Given the description of an element on the screen output the (x, y) to click on. 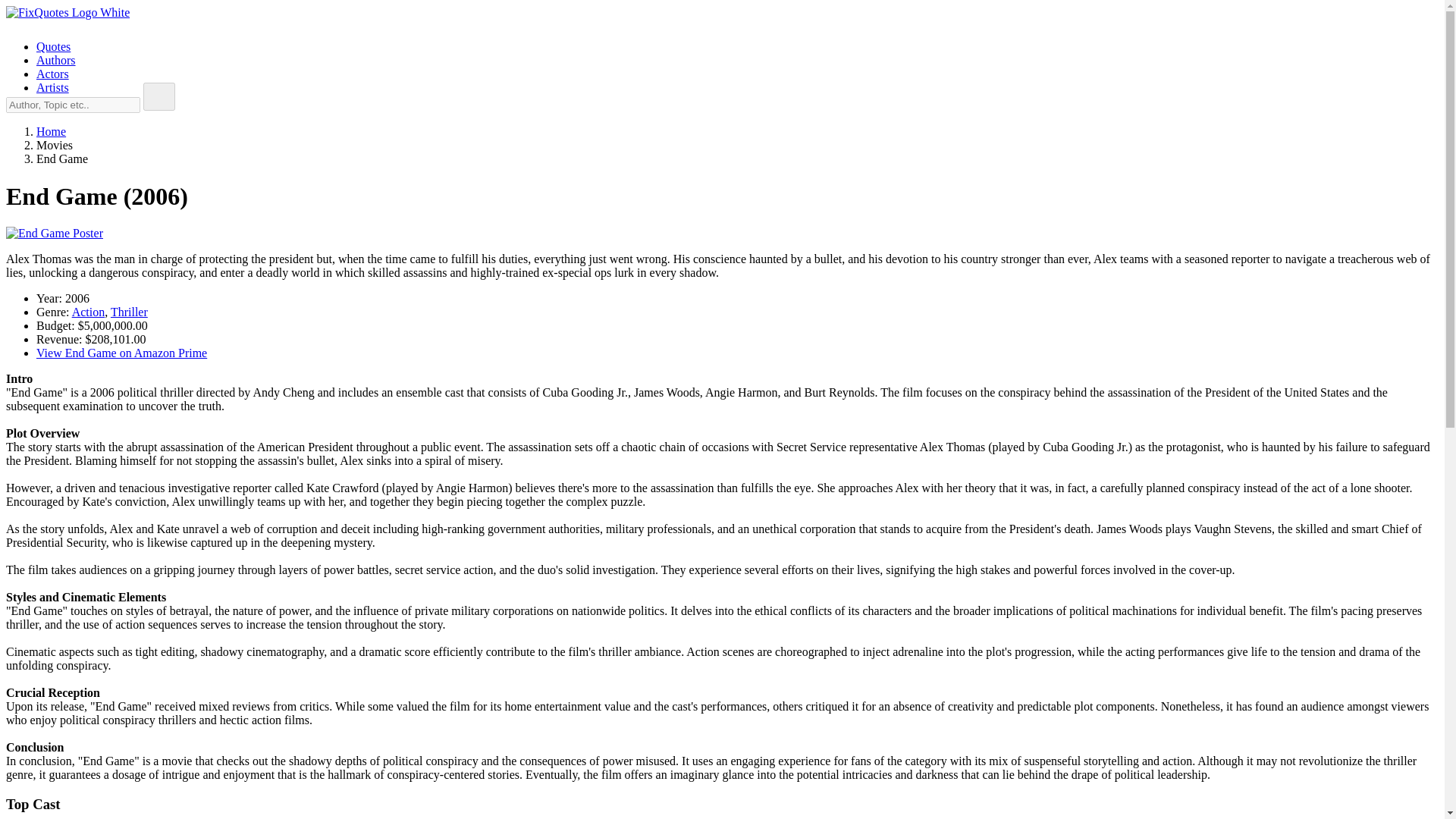
Click to search (158, 96)
Actors (52, 73)
Home (50, 131)
Authors (55, 60)
Artists (52, 87)
Thriller (129, 311)
Action (87, 311)
View End Game on Amazon Prime (121, 352)
Quotes (52, 46)
